Given the description of an element on the screen output the (x, y) to click on. 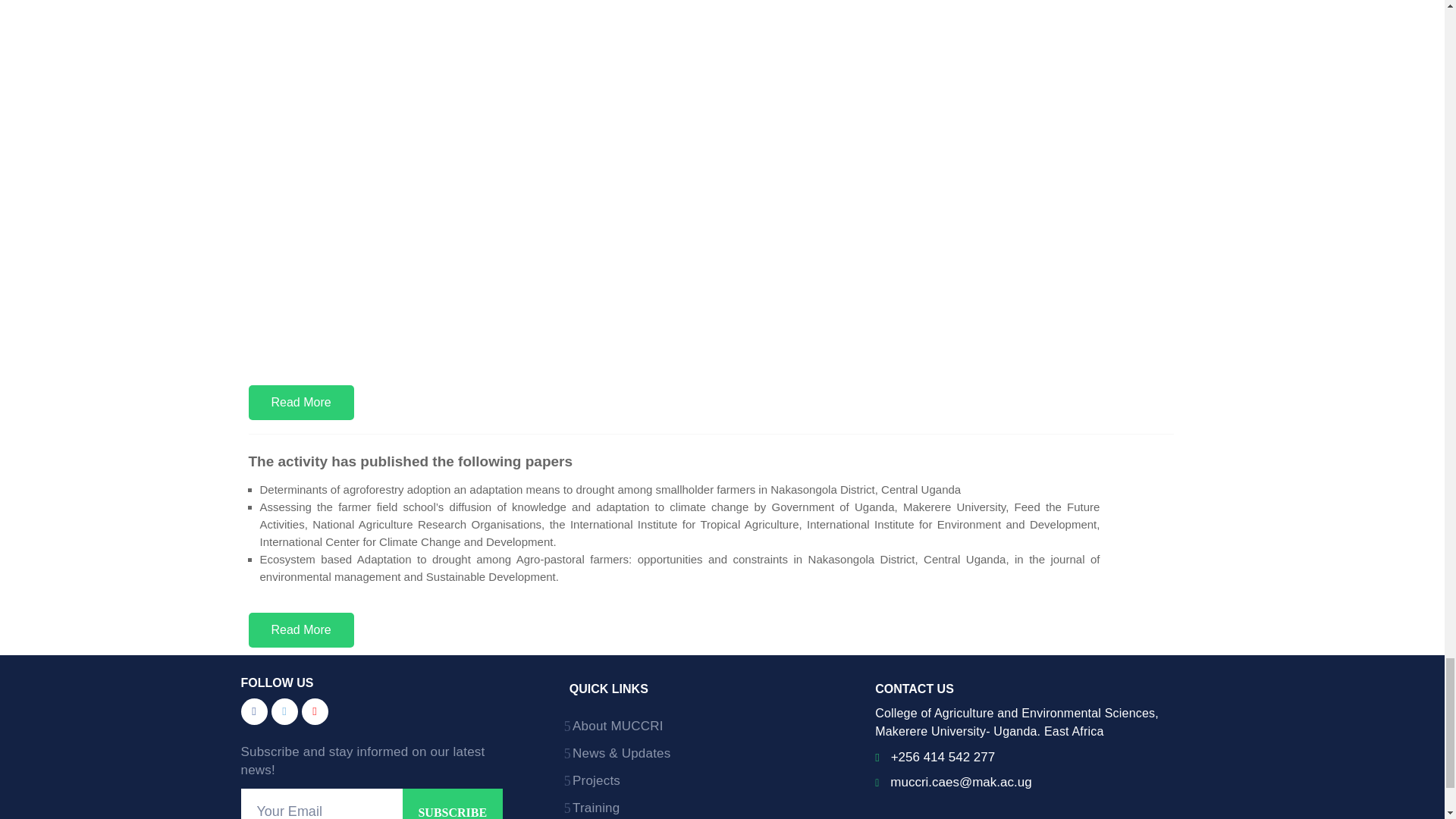
Subscribe (452, 803)
